Given the description of an element on the screen output the (x, y) to click on. 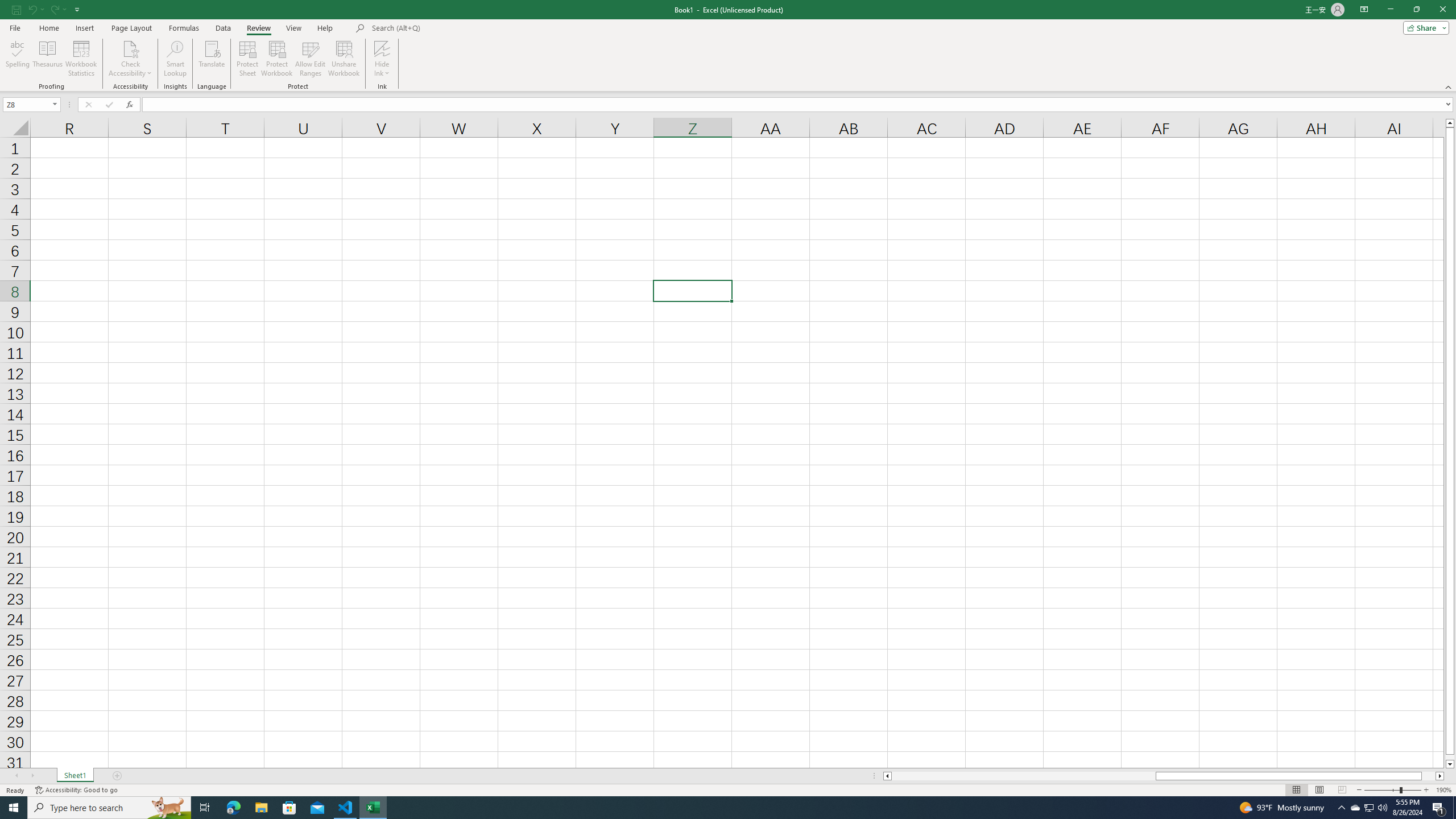
Hide Ink (381, 58)
Smart Lookup (175, 58)
Translate (211, 58)
Page left (1023, 775)
Protect Workbook... (277, 58)
